Given the description of an element on the screen output the (x, y) to click on. 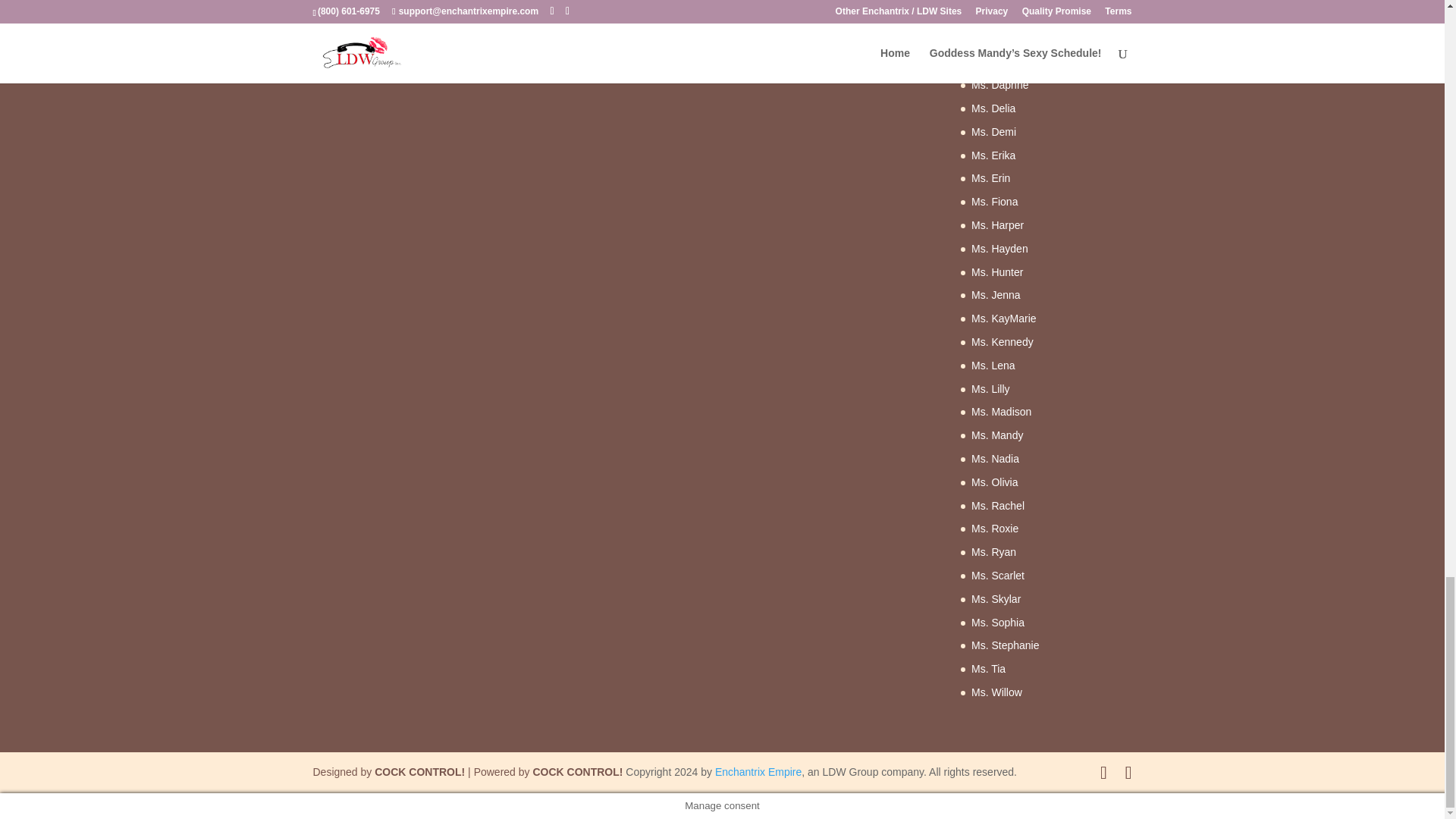
COCK CONTROL! (419, 771)
